Given the description of an element on the screen output the (x, y) to click on. 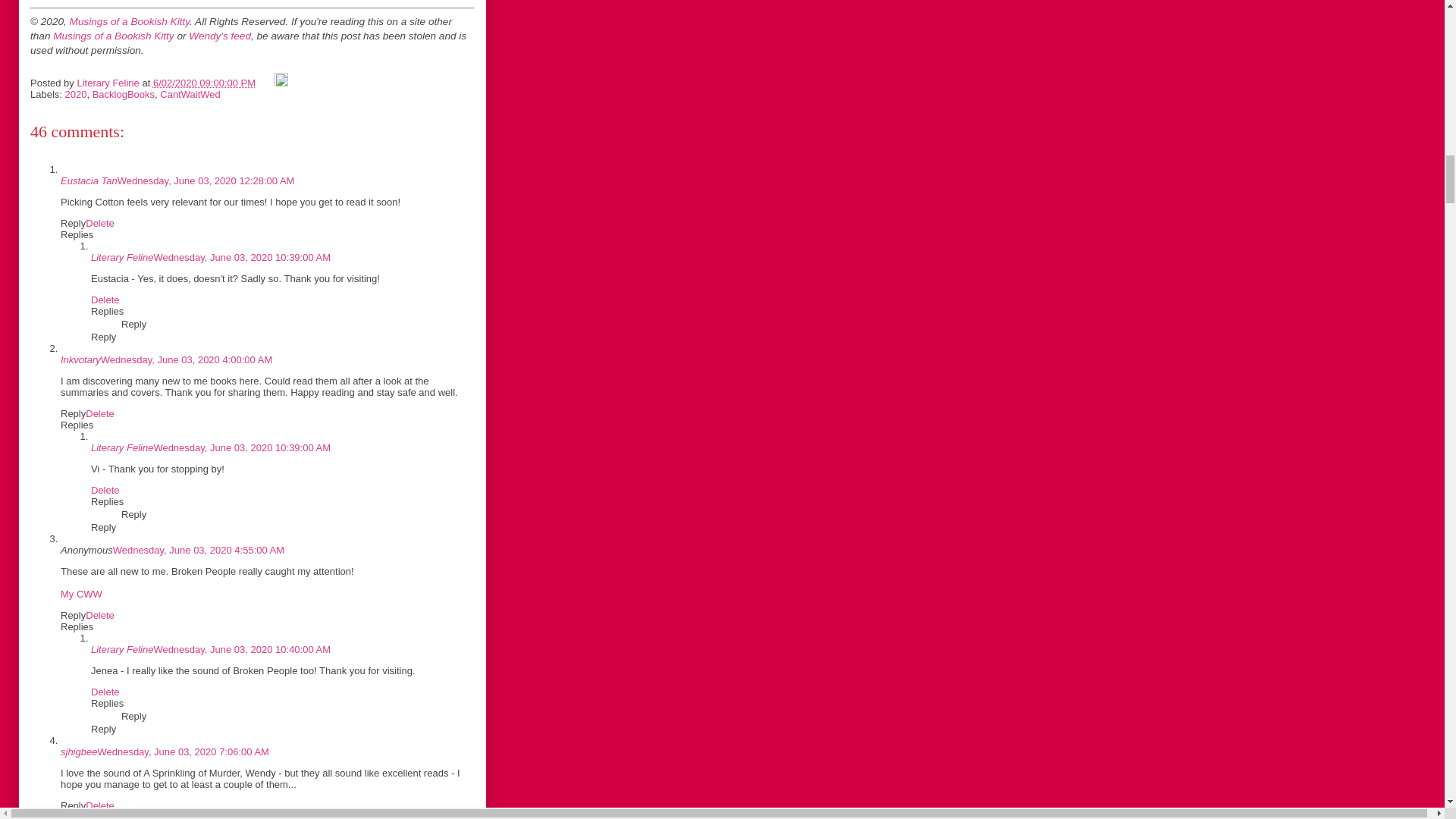
author profile (109, 82)
Reply (73, 223)
Literary Feline (121, 256)
Wednesday, June 03, 2020 10:39:00 AM (241, 256)
Wednesday, June 03, 2020 12:28:00 AM (206, 180)
Edit Post (281, 82)
permanent link (204, 82)
Replies (106, 310)
Reply (73, 413)
CantWaitWed (189, 93)
Replies (77, 234)
Eustacia Tan (89, 180)
BacklogBooks (123, 93)
Delete (104, 299)
Email Post (267, 82)
